Given the description of an element on the screen output the (x, y) to click on. 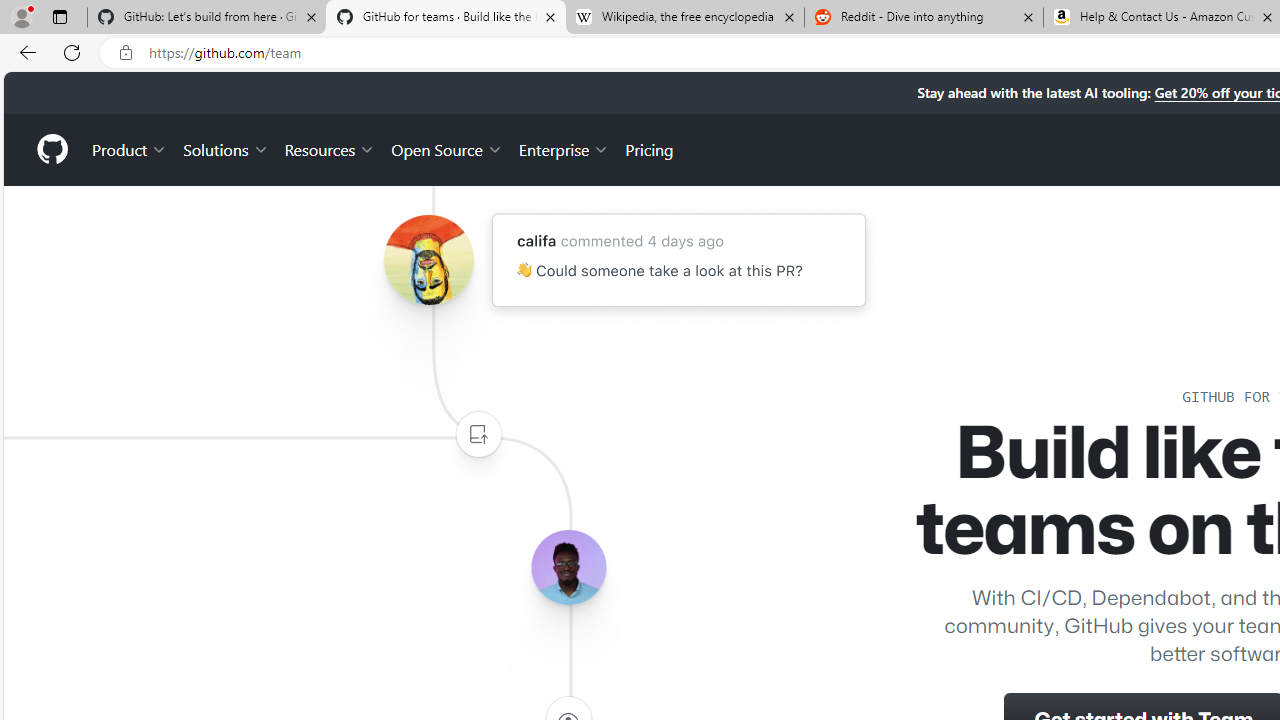
Pricing (649, 148)
Pricing (649, 148)
Resources (330, 148)
Class: color-fg-muted width-full (478, 434)
Solutions (225, 148)
Product (130, 148)
Avatar of the user califa (428, 260)
Wikipedia, the free encyclopedia (684, 17)
Avatar of the user lerebear (568, 567)
Homepage (51, 149)
